Given the description of an element on the screen output the (x, y) to click on. 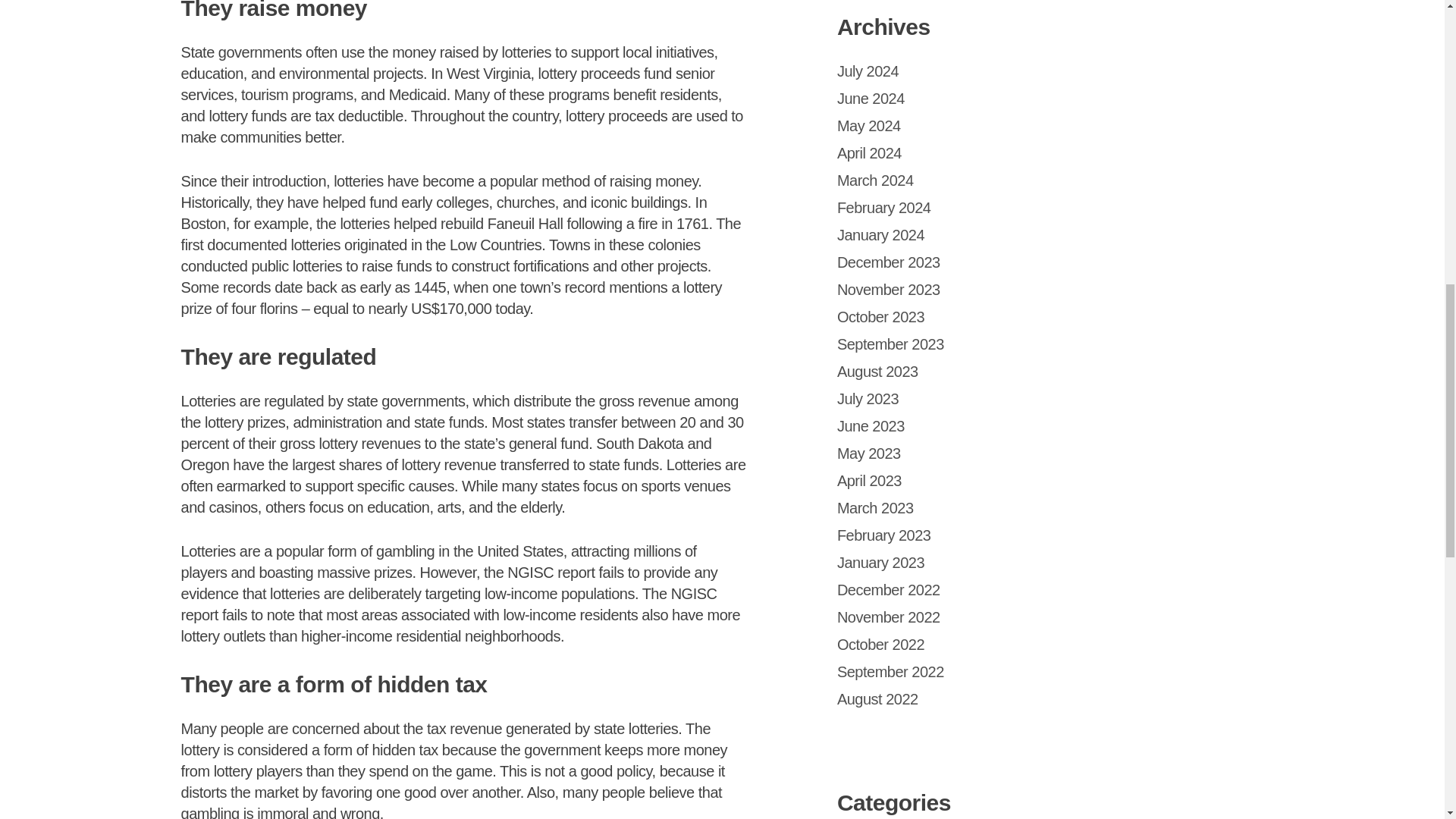
July 2024 (867, 71)
November 2022 (888, 617)
January 2023 (880, 562)
January 2024 (880, 234)
June 2023 (870, 425)
December 2023 (888, 262)
February 2024 (884, 207)
December 2022 (888, 589)
March 2023 (875, 507)
September 2023 (890, 343)
April 2023 (869, 480)
May 2024 (869, 125)
July 2023 (867, 398)
May 2023 (869, 453)
April 2024 (869, 152)
